Given the description of an element on the screen output the (x, y) to click on. 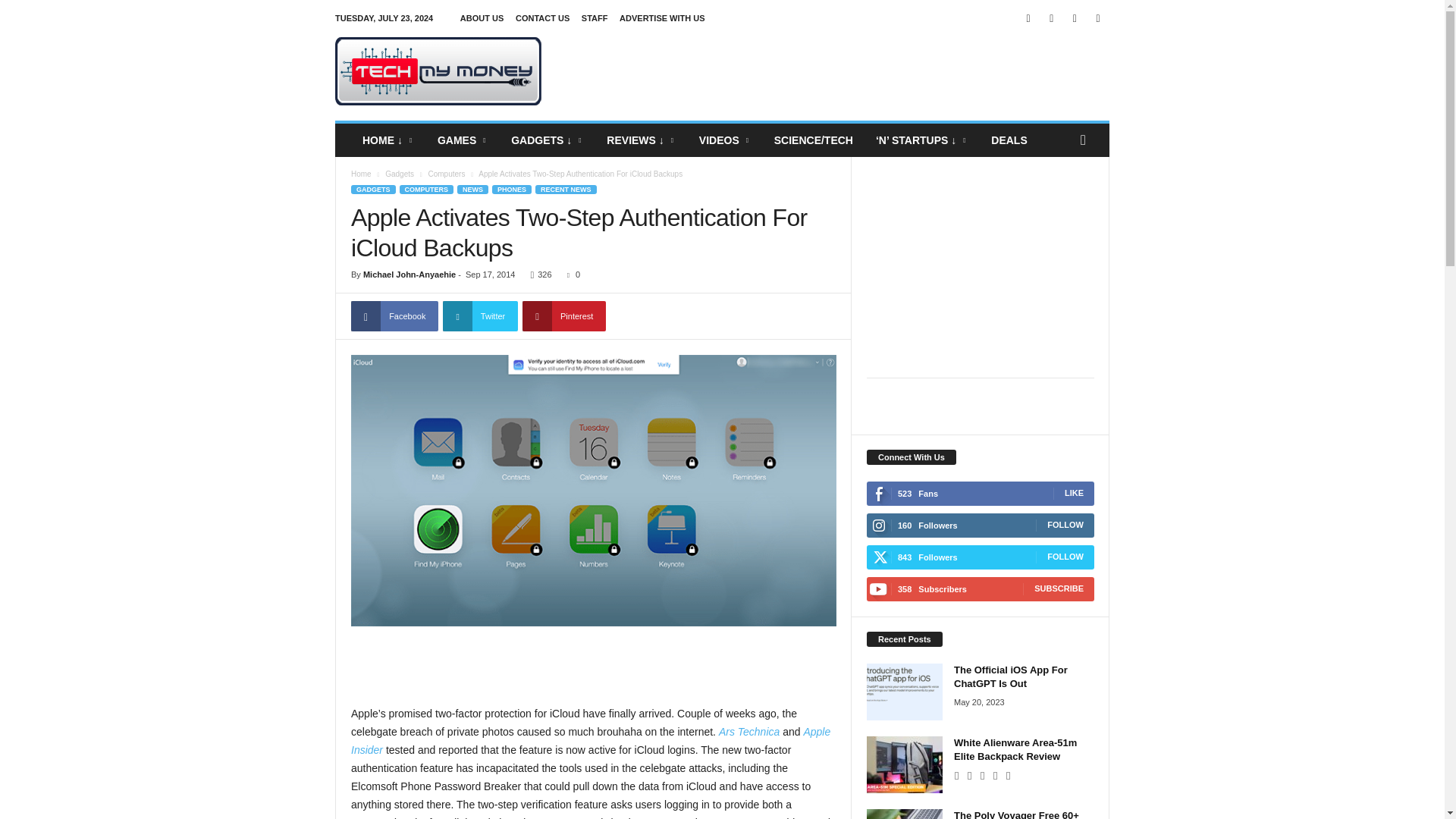
STAFF (594, 17)
Tech My Money (437, 70)
CONTACT US (542, 17)
ABOUT US (481, 17)
ADVERTISE WITH US (662, 17)
Daily Tech News and Gadget Reviews (437, 70)
